Given the description of an element on the screen output the (x, y) to click on. 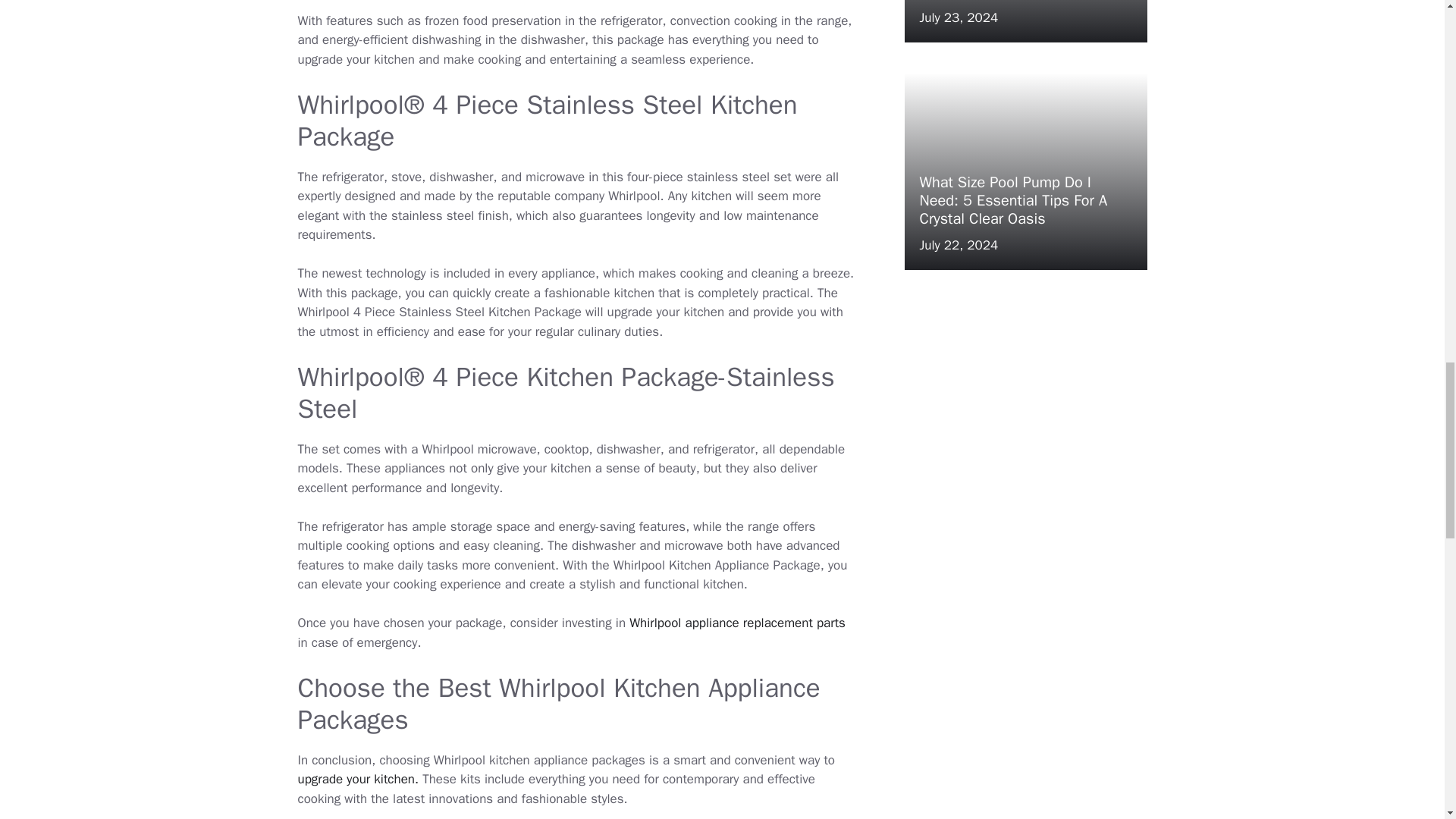
Whirlpool appliance replacement parts (736, 622)
upgrade your kitchen. (359, 779)
